Given the description of an element on the screen output the (x, y) to click on. 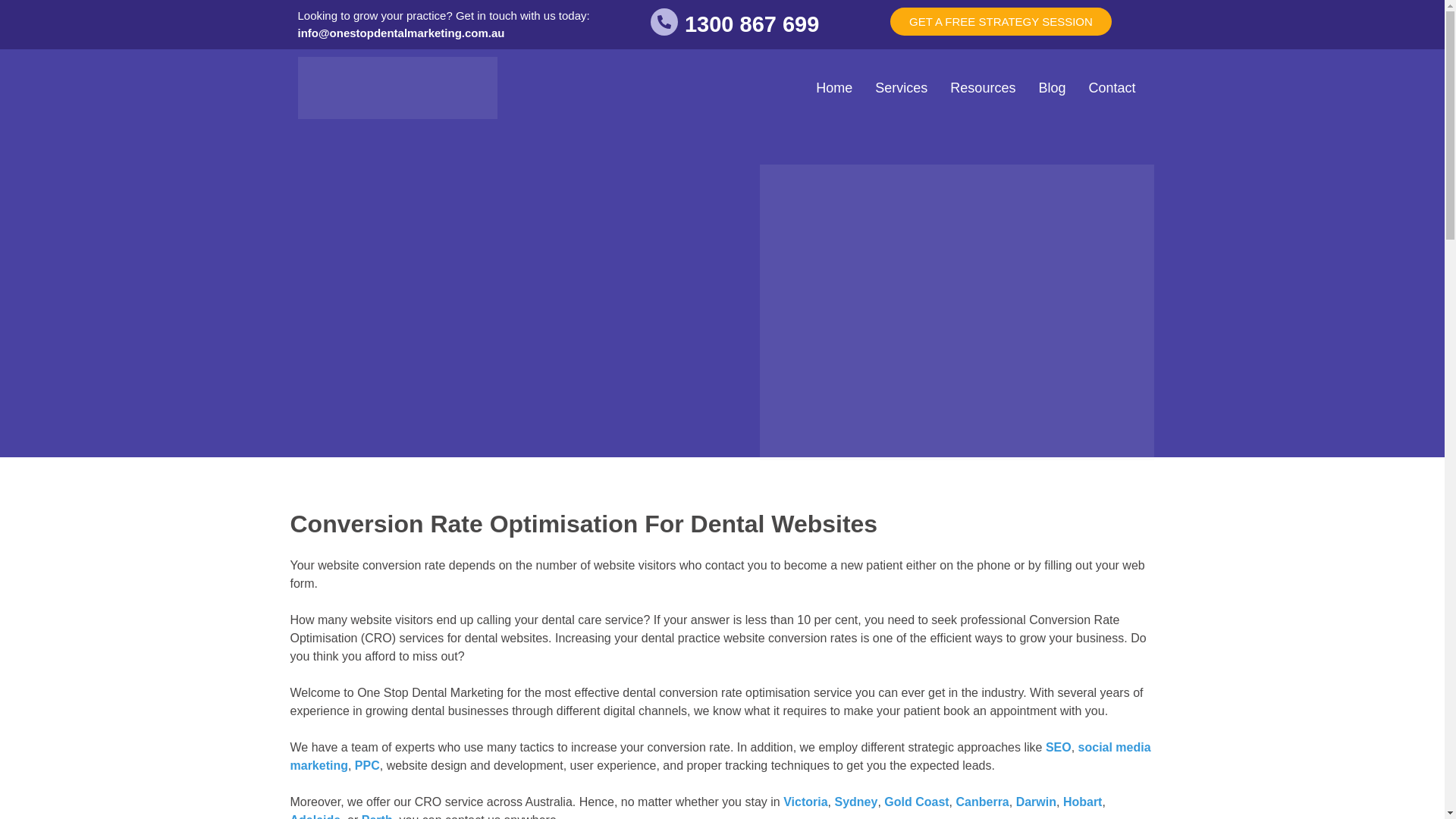
Resources (982, 87)
GET A FREE STRATEGY SESSION (1000, 21)
Services (901, 87)
Home (834, 87)
Blog (1051, 87)
social-media-banner-image (957, 312)
Contact (1112, 87)
1300 867 699 (751, 24)
